Given the description of an element on the screen output the (x, y) to click on. 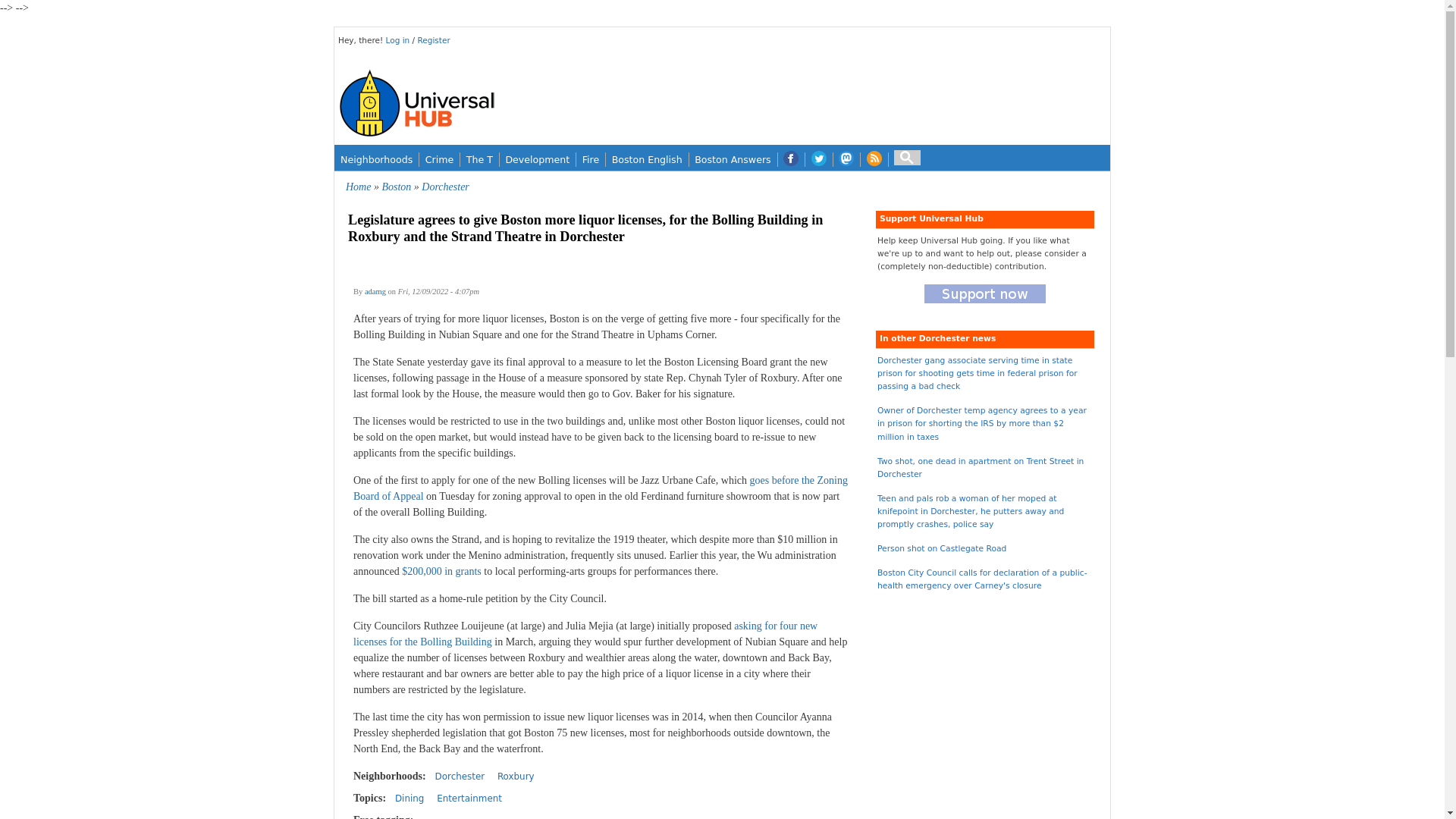
Universal Hub on Mastodon (846, 159)
Boston English (646, 159)
Dorchester (459, 776)
goes before the Zoning Board of Appeal (600, 488)
Universal Hub on Facebook (791, 159)
View user profile. (375, 291)
Wicked Good Guide to Boston English (646, 159)
Log in (398, 40)
adamg (375, 291)
Roxbury (515, 776)
